Given the description of an element on the screen output the (x, y) to click on. 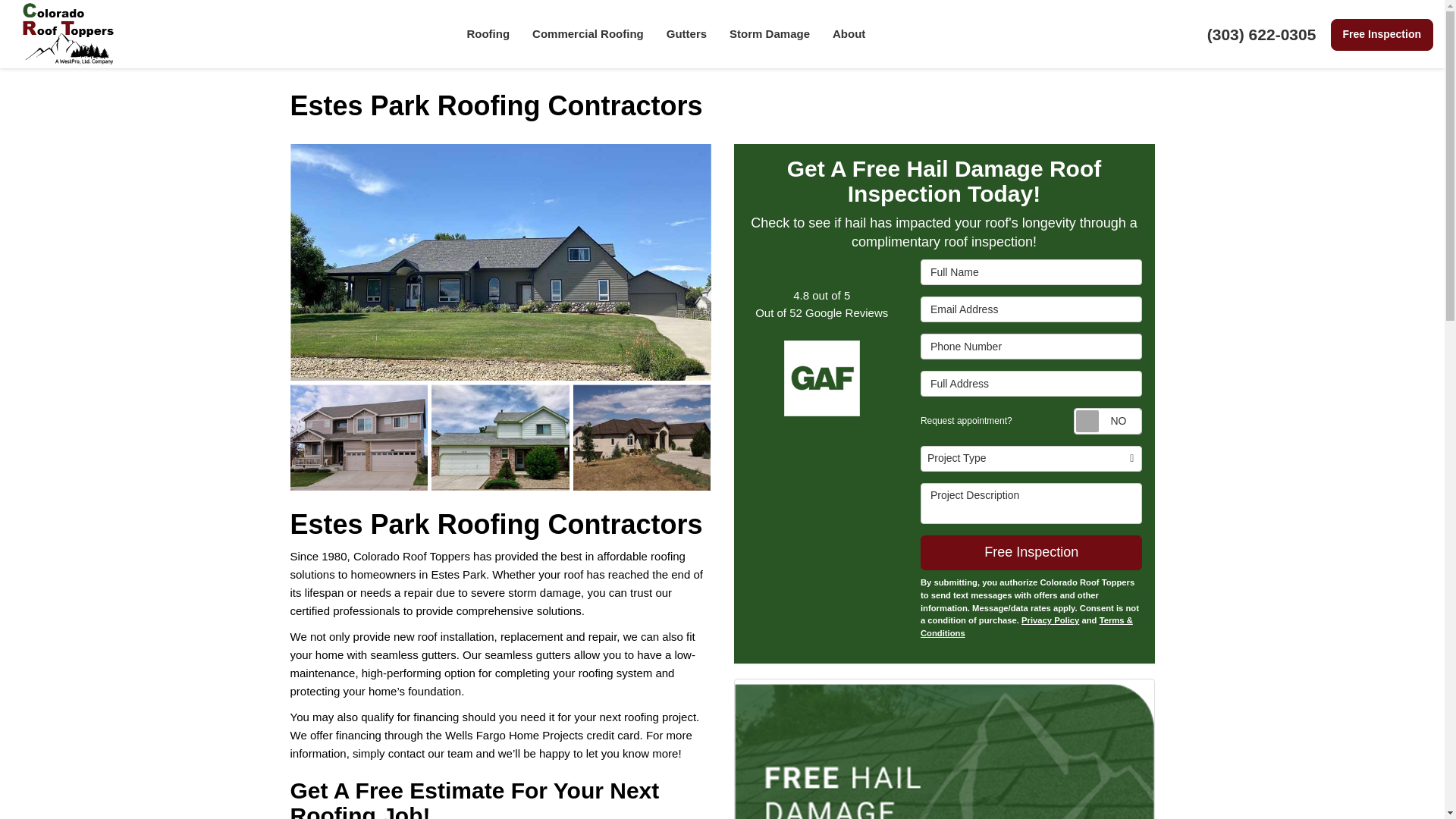
Commercial Roofing (588, 33)
Gutters (686, 33)
Free Inspection (1381, 34)
Roofing (487, 33)
Storm Damage (769, 33)
Free Inspection (1381, 34)
